Given the description of an element on the screen output the (x, y) to click on. 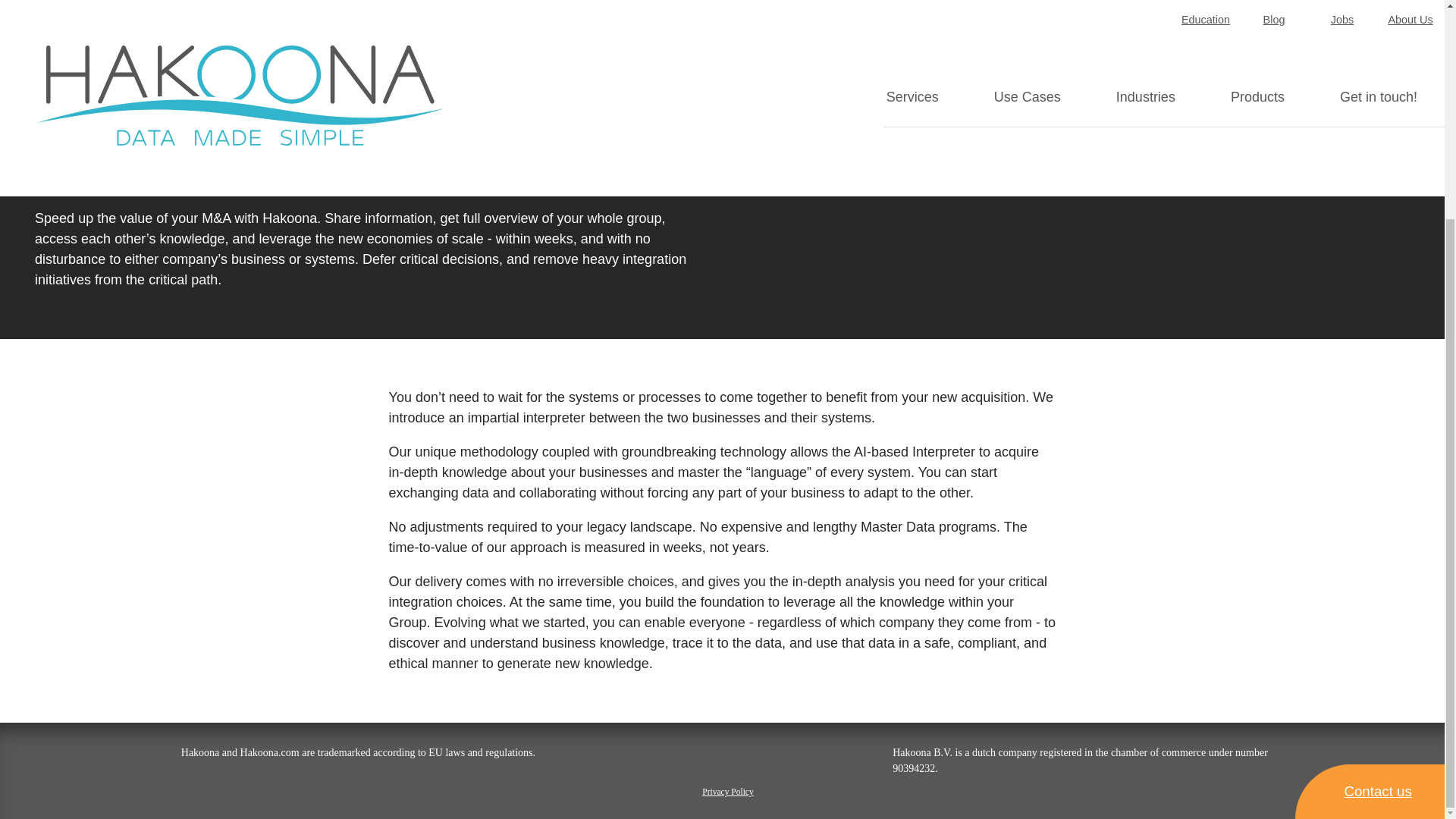
Contact us (1369, 502)
